Given the description of an element on the screen output the (x, y) to click on. 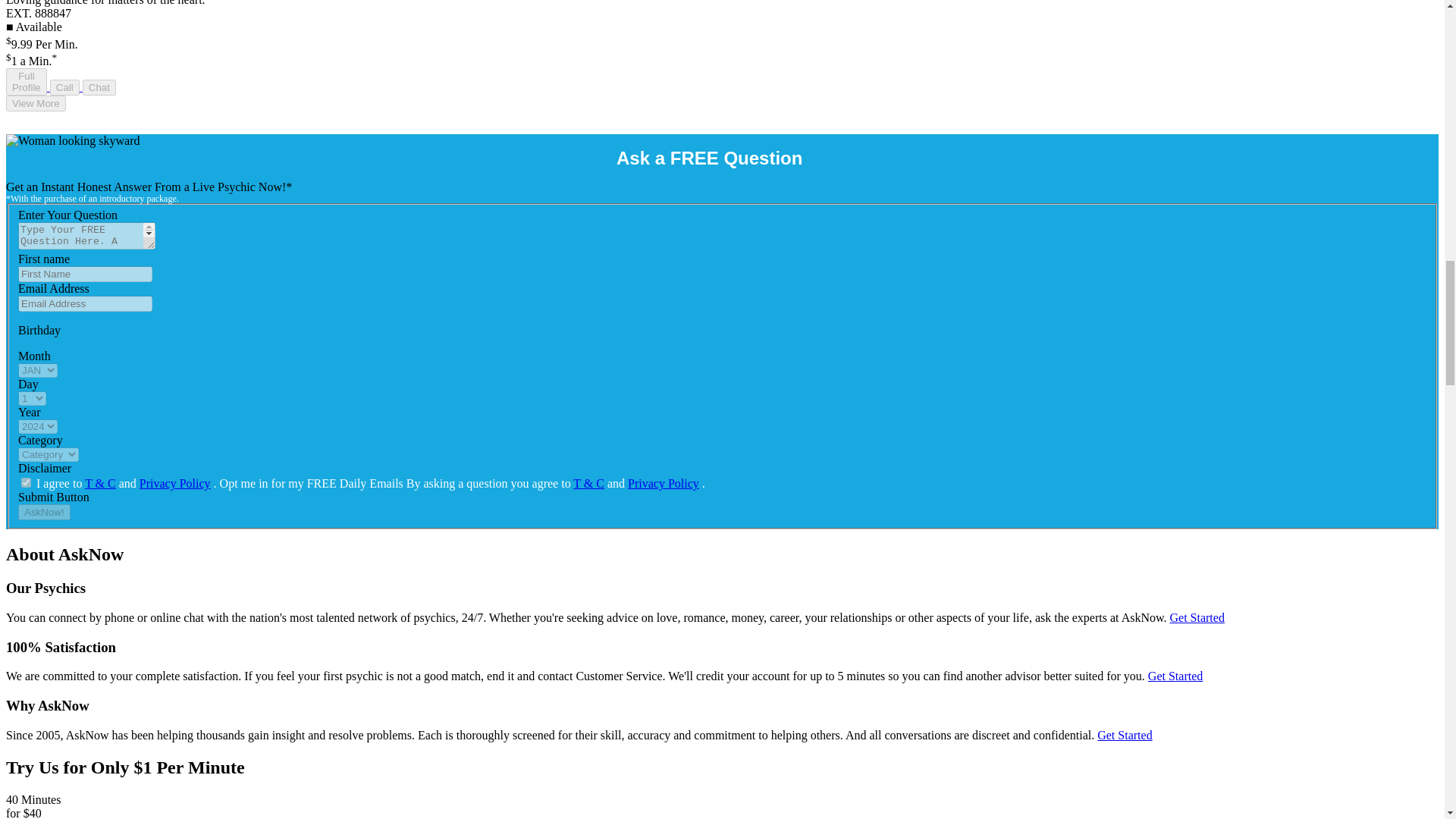
on (25, 482)
